Given the description of an element on the screen output the (x, y) to click on. 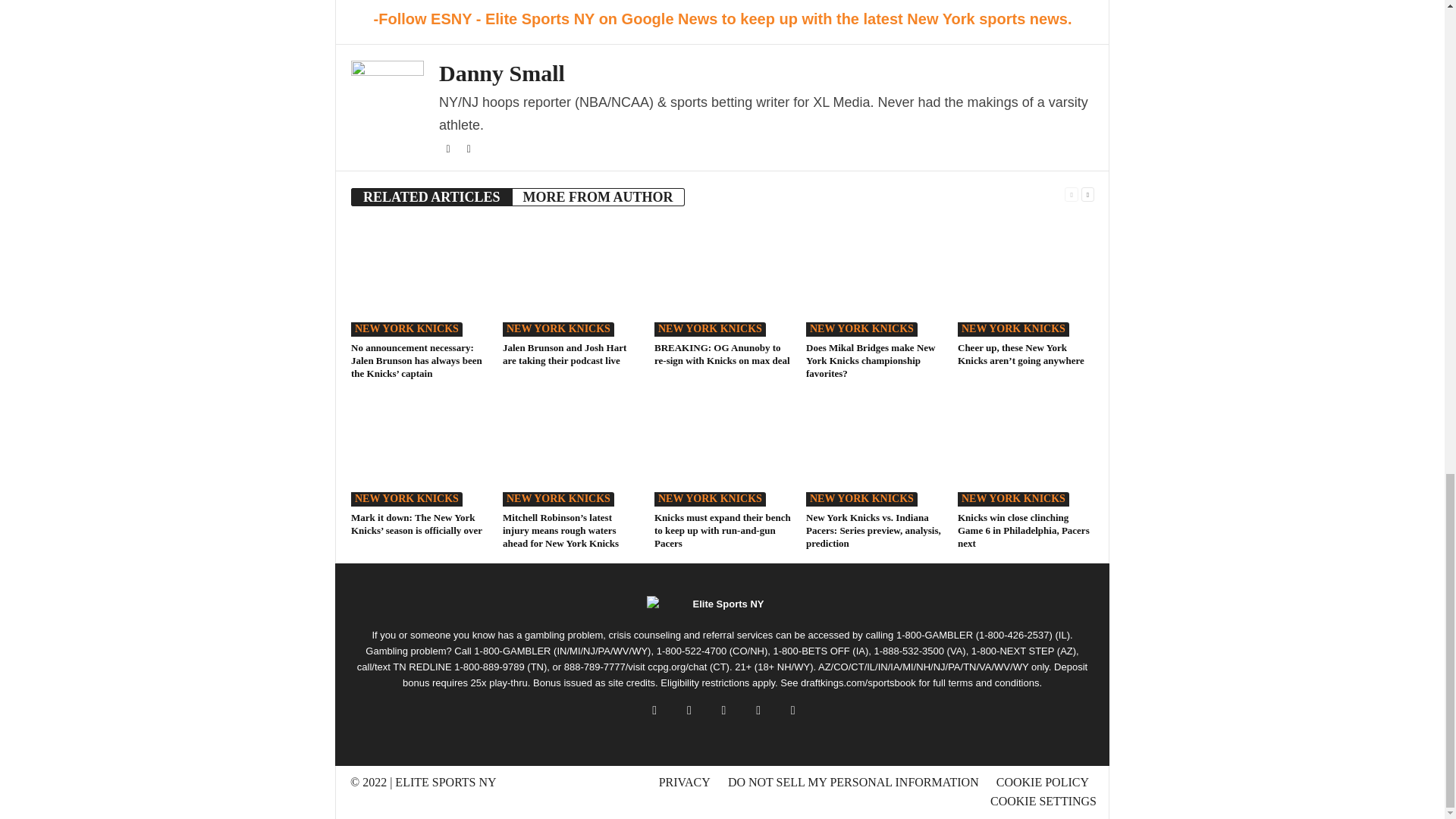
Linkedin (468, 149)
Jalen Brunson and Josh Hart are taking their podcast live (570, 279)
Twitter (449, 149)
